Given the description of an element on the screen output the (x, y) to click on. 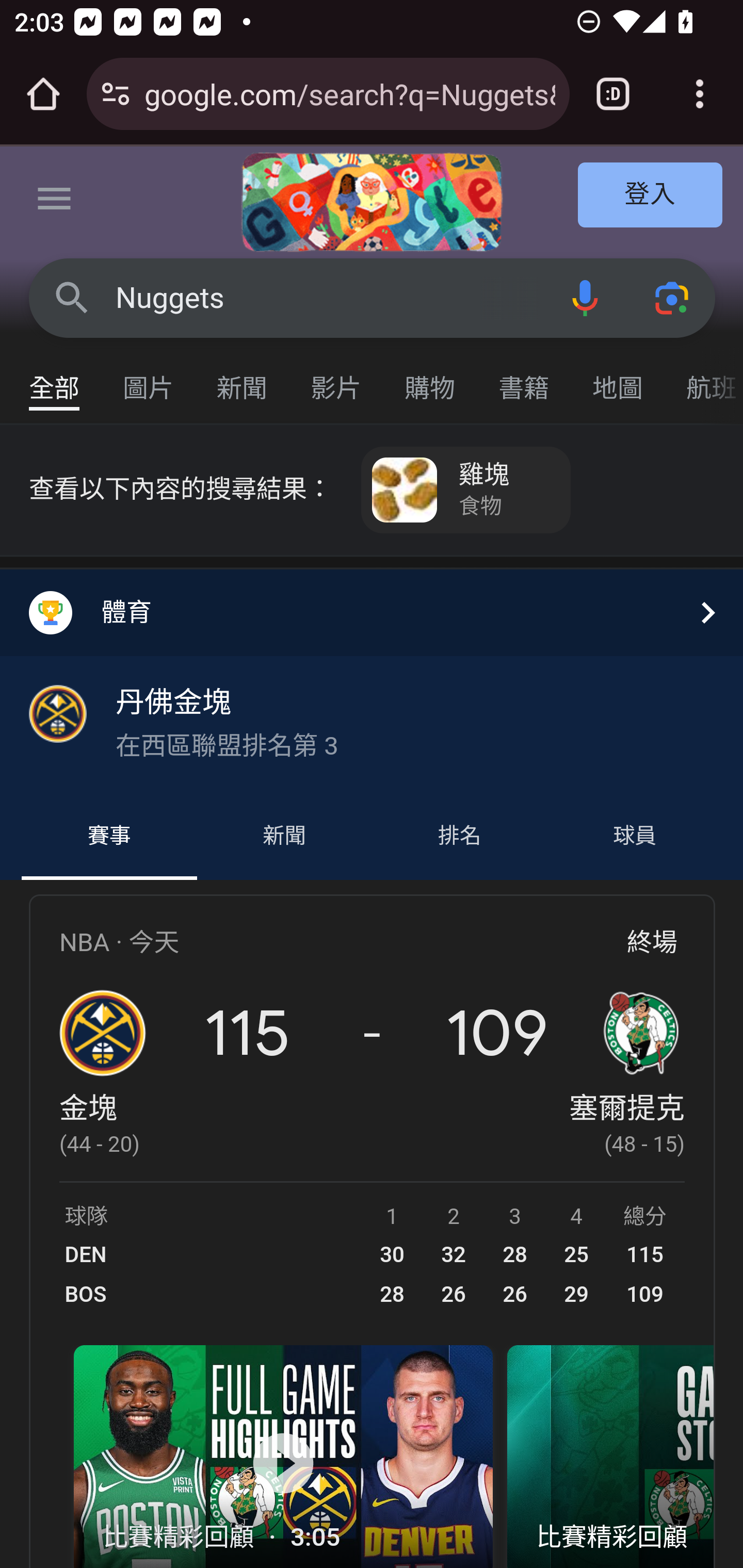
Open the home page (43, 93)
Connection is secure (115, 93)
Switch or close tabs (612, 93)
Customize and control Google Chrome (699, 93)
2024 年國際婦女節 (371, 202)
主選單 (54, 202)
登入 (650, 195)
Google 搜尋 (71, 296)
使用相機或相片搜尋 (672, 296)
Nuggets (328, 297)
圖片 (148, 378)
新聞 (242, 378)
影片 (336, 378)
購物 (430, 378)
書籍 (524, 378)
地圖 (618, 378)
航班 (703, 378)
雞塊 食物 雞塊 食物 (466, 489)
體育 丹佛金塊 在西區聯盟排名第 3 體育 丹佛金塊 在西區聯盟排名第 3 (371, 680)
體育 (371, 611)
賽事 (109, 836)
新聞 (283, 836)
排名 (460, 836)
球員 (634, 836)
